Given the description of an element on the screen output the (x, y) to click on. 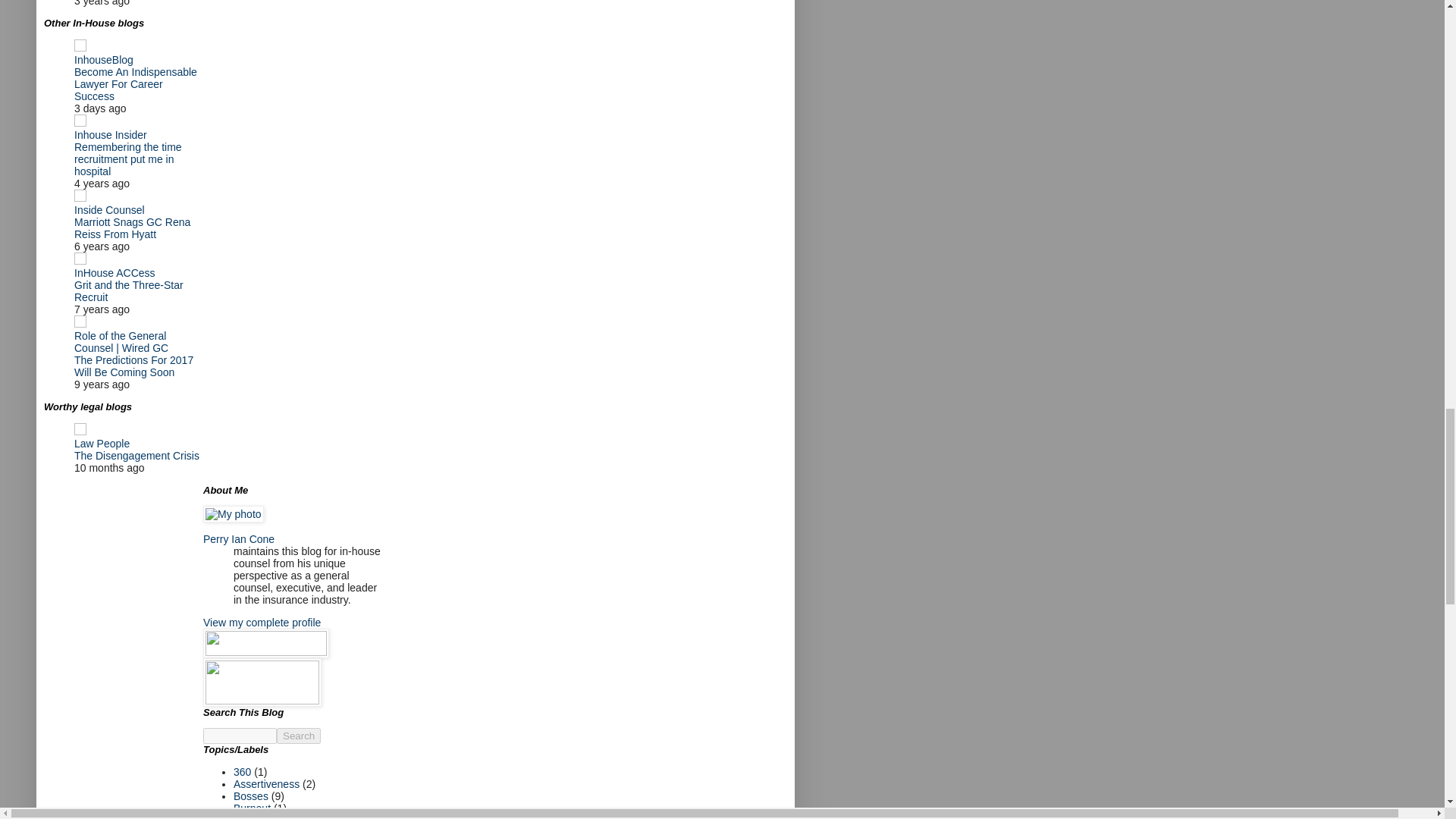
Search (298, 735)
Search (298, 735)
search (298, 735)
search (239, 735)
